Given the description of an element on the screen output the (x, y) to click on. 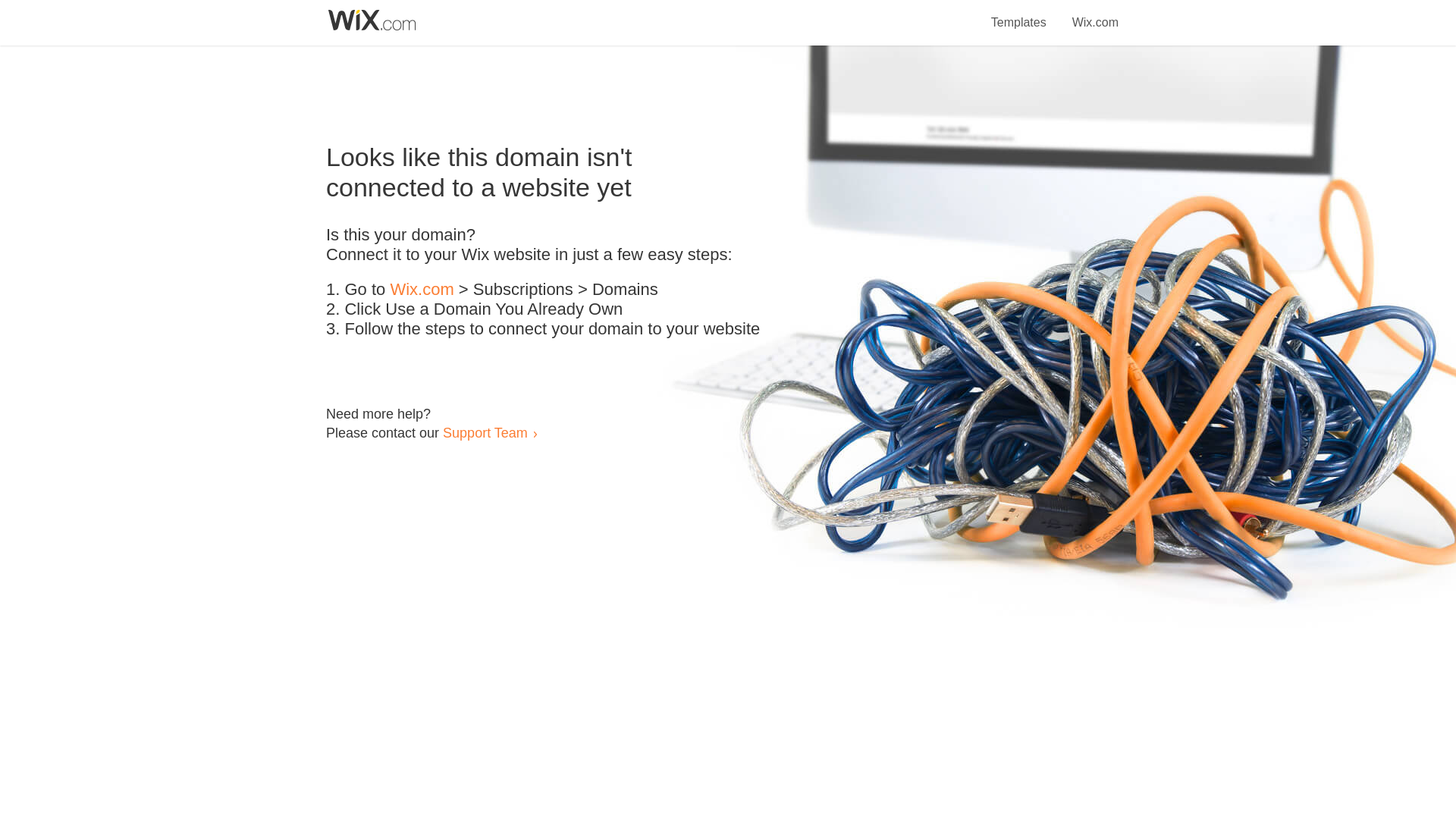
Wix.com (421, 289)
Wix.com (1095, 14)
Support Team (484, 432)
Templates (1018, 14)
